Given the description of an element on the screen output the (x, y) to click on. 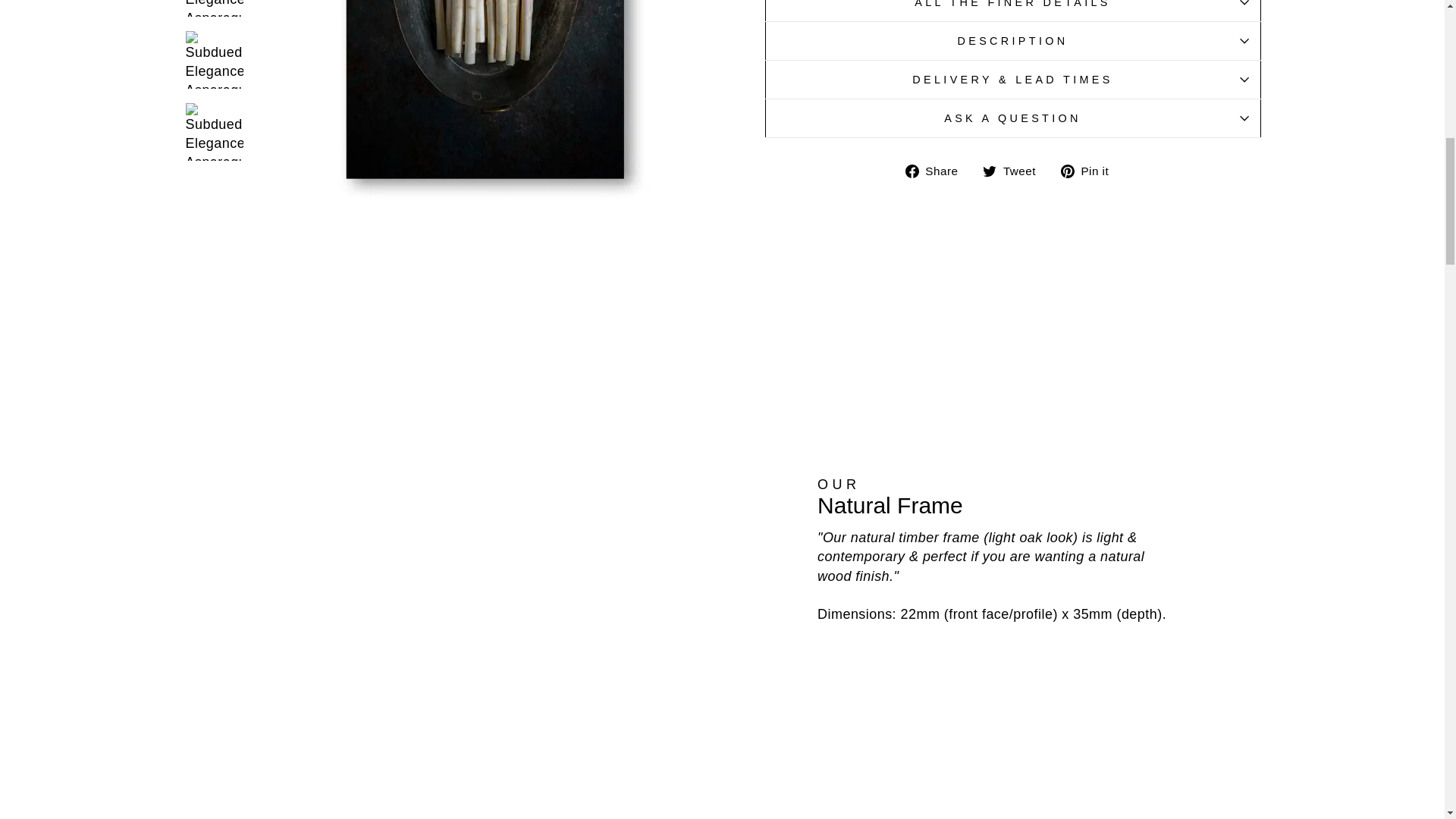
Share on Facebook (937, 169)
Pin on Pinterest (1090, 169)
twitter (988, 171)
Tweet on Twitter (1014, 169)
